Given the description of an element on the screen output the (x, y) to click on. 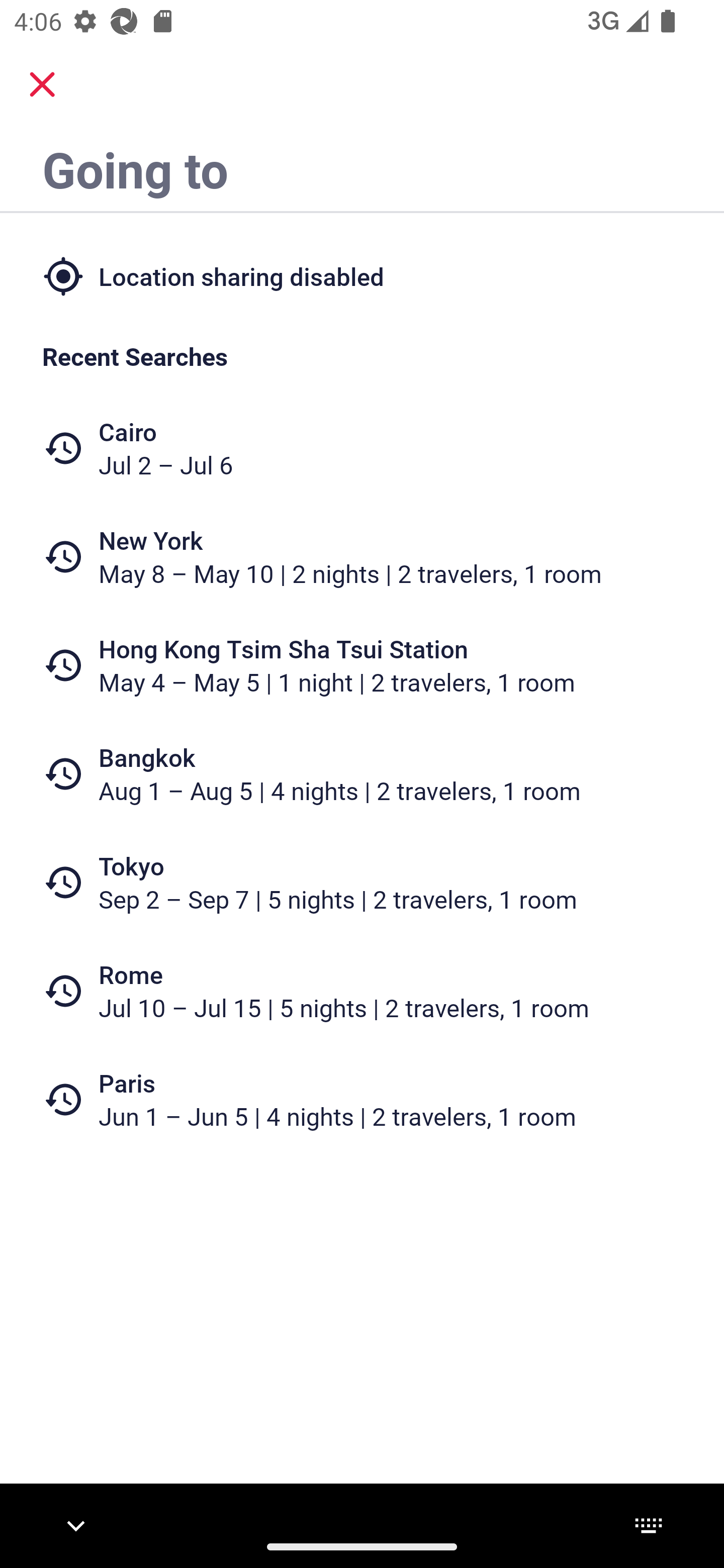
close. (42, 84)
Location sharing disabled (362, 275)
Cairo Jul 2 – Jul 6 (362, 448)
